Given the description of an element on the screen output the (x, y) to click on. 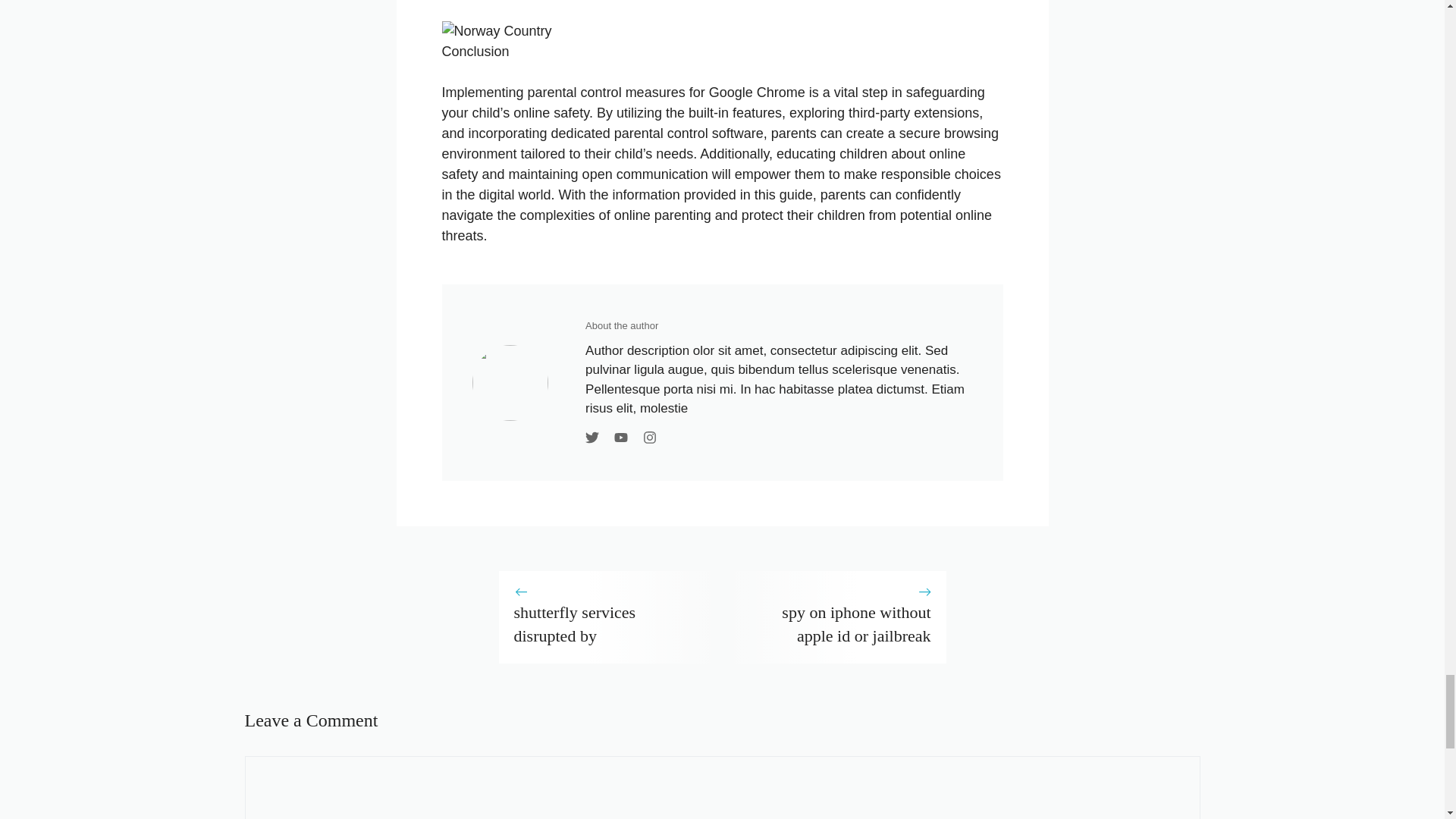
shutterfly services disrupted by (574, 623)
Norway Country (496, 31)
testimonials-2 (509, 382)
spy on iphone without apple id or jailbreak (855, 623)
